Given the description of an element on the screen output the (x, y) to click on. 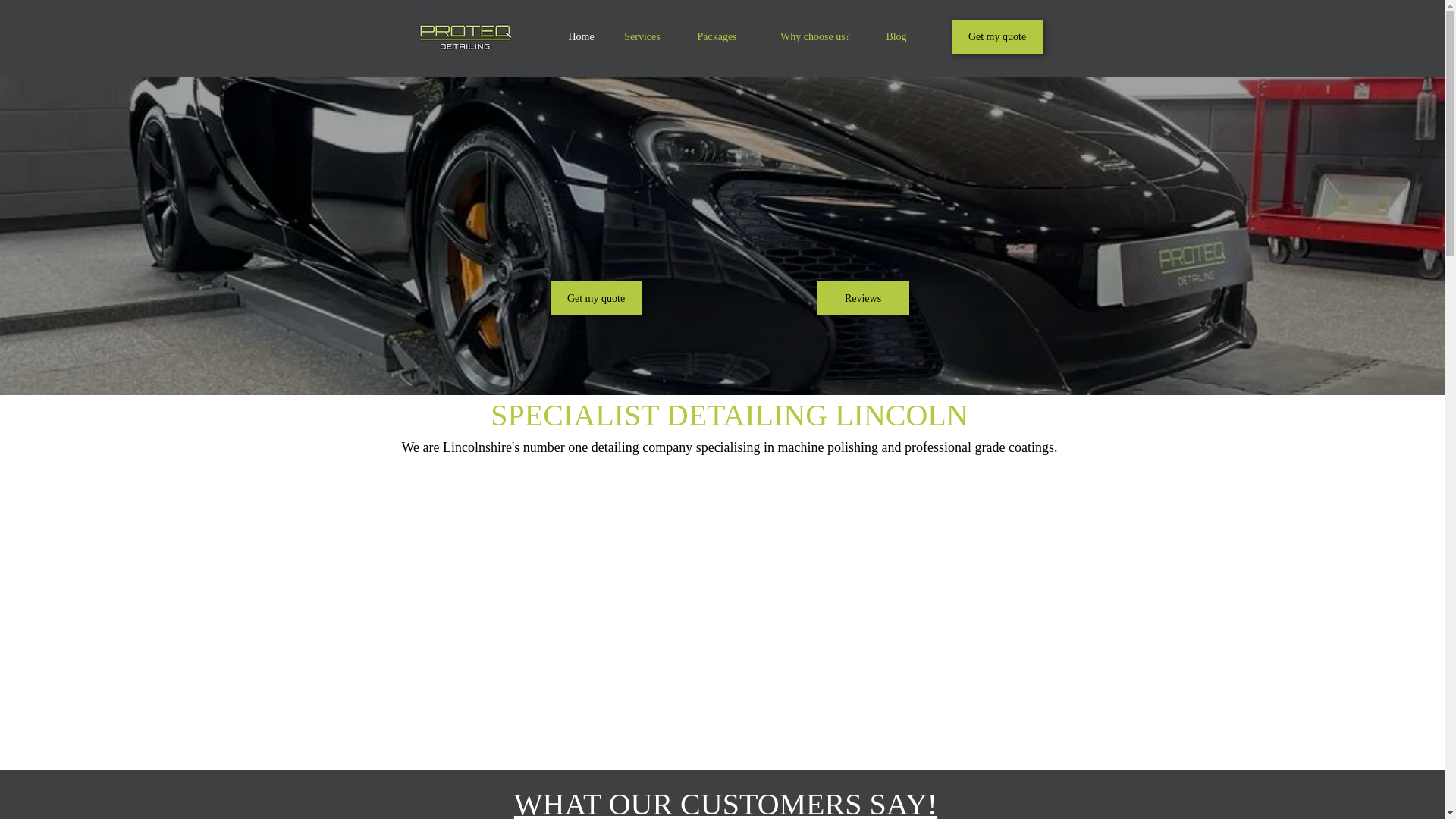
Home (579, 36)
Get my quote (596, 298)
Blog (895, 36)
Get my quote (996, 36)
Reviews (862, 298)
Why choose us? (814, 36)
Packages (716, 36)
WHAT OUR CUSTOMERS SAY! (725, 803)
Services (642, 36)
